Given the description of an element on the screen output the (x, y) to click on. 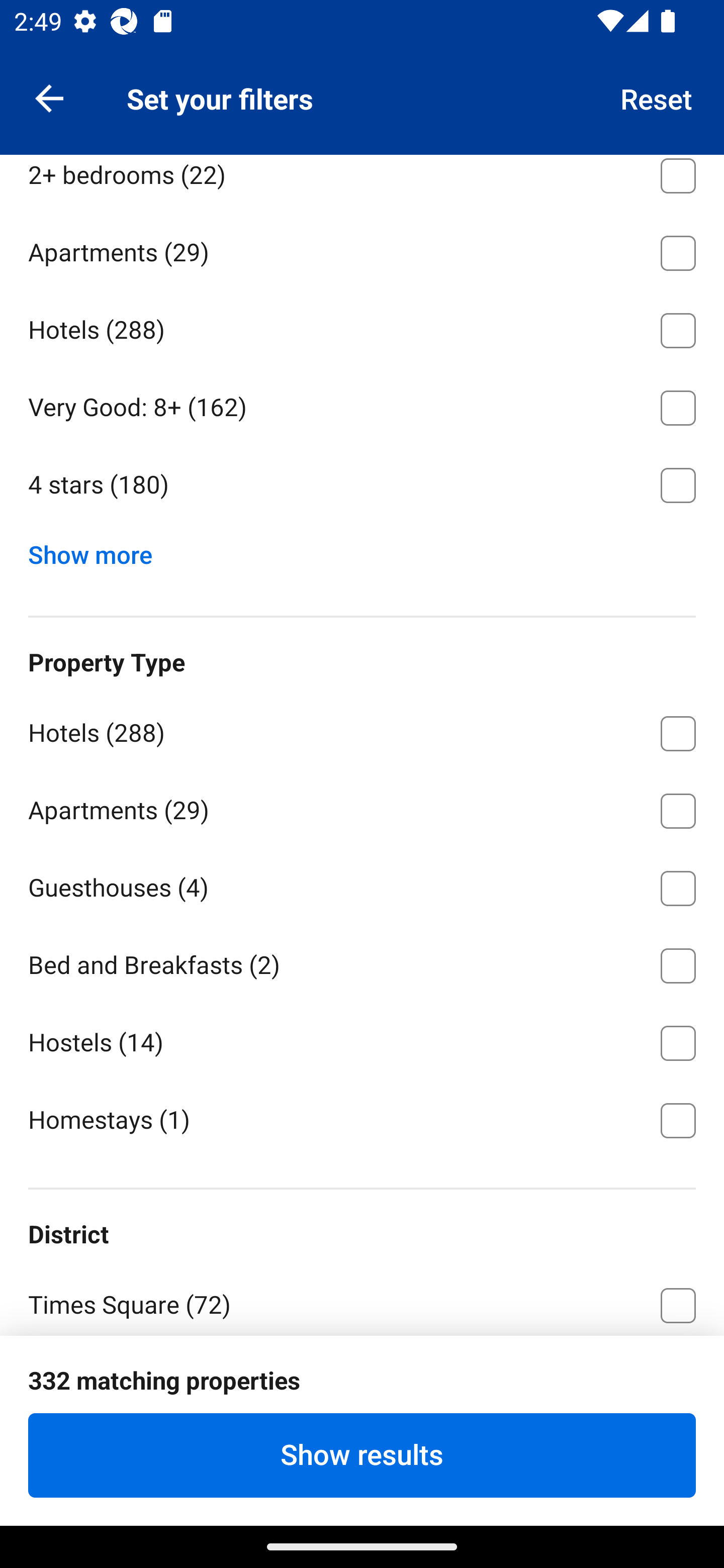
Navigate up (49, 97)
Reset (656, 97)
2+ bedrooms ⁦(22) (361, 183)
Apartments ⁦(29) (361, 249)
Hotels ⁦(288) (361, 326)
Very Good: 8+ ⁦(162) (361, 404)
4 stars ⁦(180) (361, 485)
Show more (97, 551)
Hotels ⁦(288) (361, 729)
Apartments ⁦(29) (361, 807)
Guesthouses ⁦(4) (361, 884)
Bed and Breakfasts ⁦(2) (361, 961)
Hostels ⁦(14) (361, 1039)
Homestays ⁦(1) (361, 1118)
Times Square ⁦(72) (361, 1299)
Manhattan ⁦(332) (361, 1378)
Central New York City ⁦(146) (361, 1456)
